Given the description of an element on the screen output the (x, y) to click on. 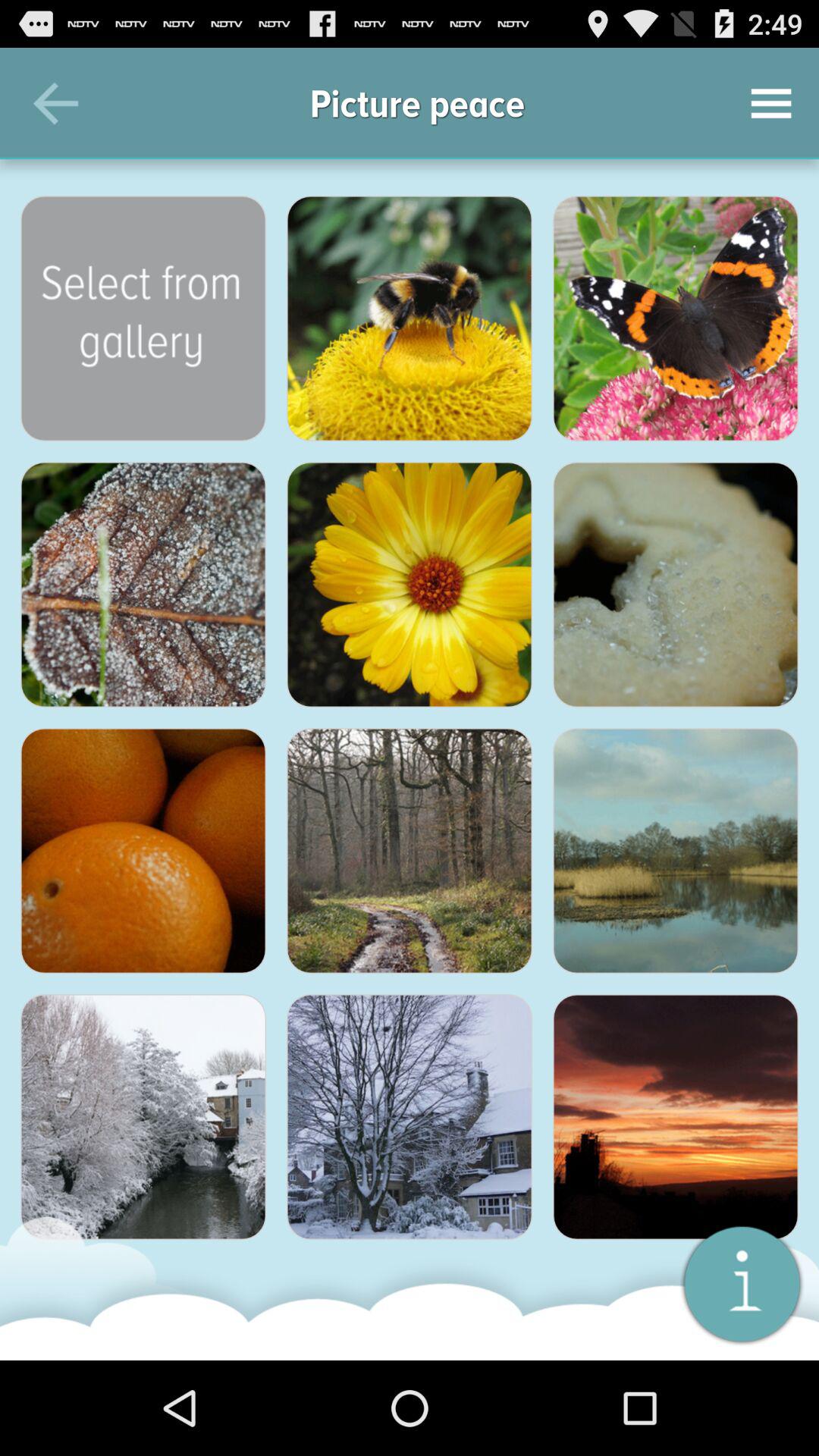
share the article (675, 318)
